Given the description of an element on the screen output the (x, y) to click on. 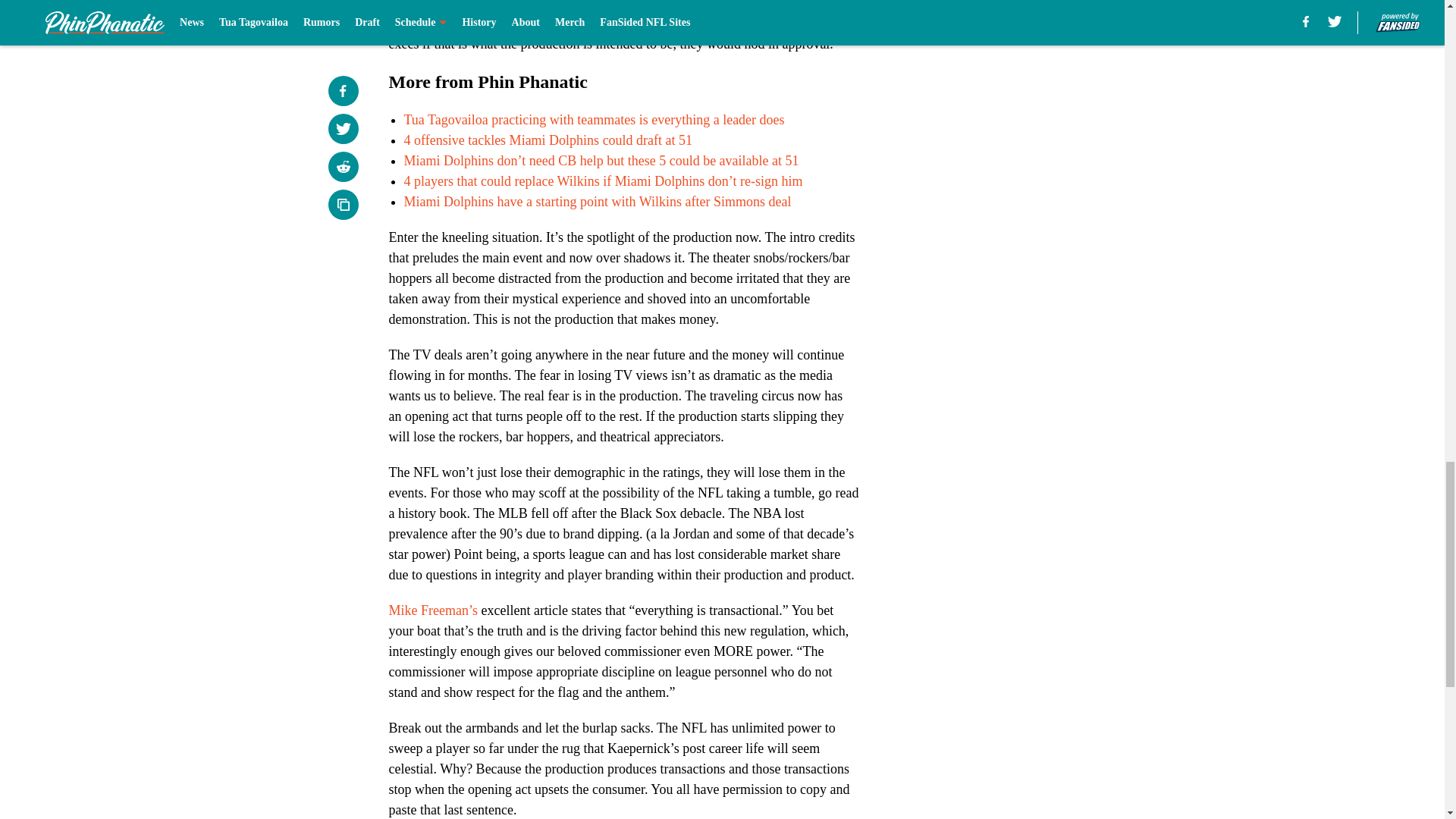
4 offensive tackles Miami Dolphins could draft at 51 (548, 140)
